Given the description of an element on the screen output the (x, y) to click on. 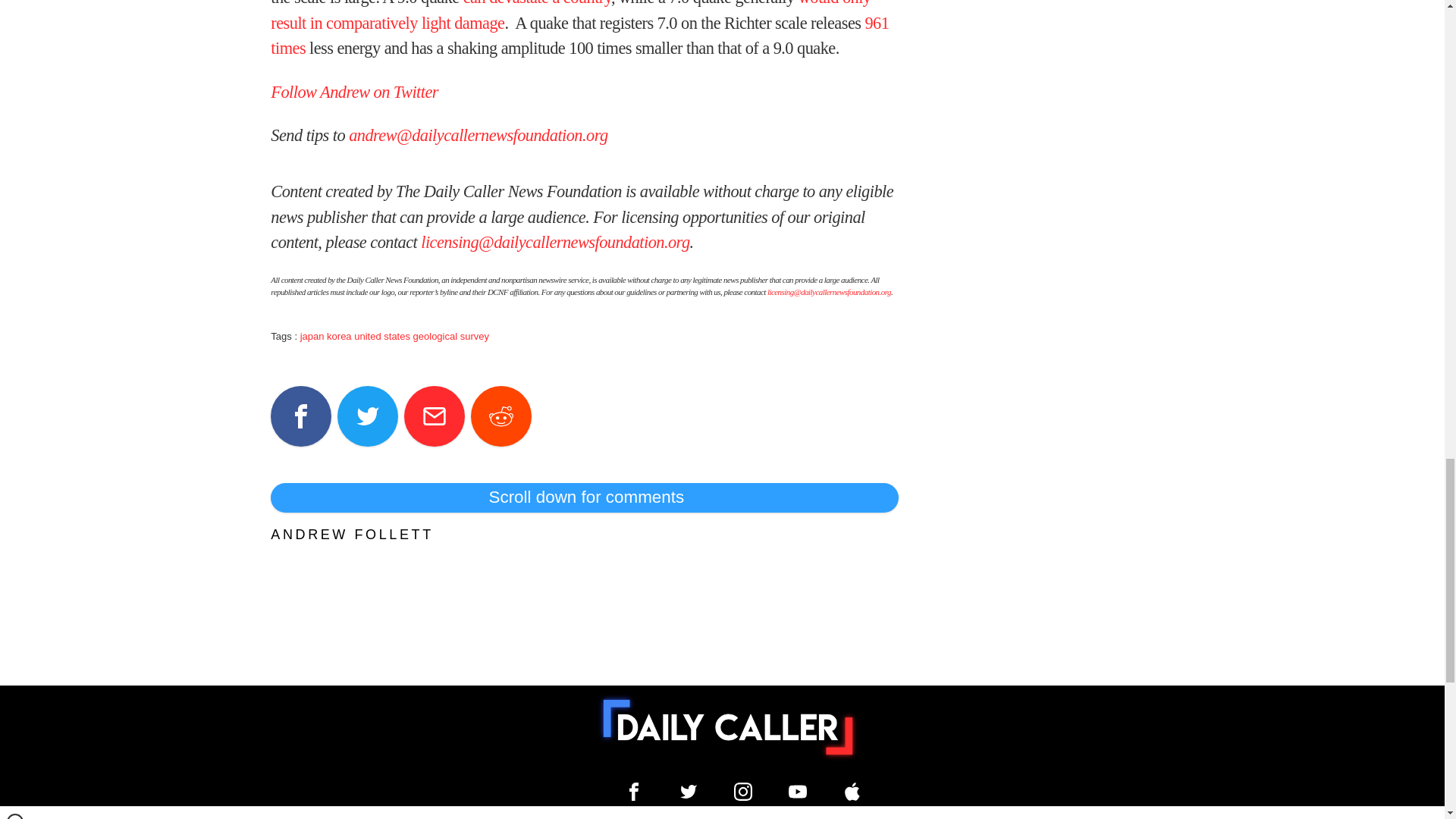
Daily Caller YouTube (797, 791)
Scroll down for comments (584, 497)
Daily Caller YouTube (852, 791)
Daily Caller Facebook (633, 791)
Daily Caller Instagram (742, 791)
To home page (727, 726)
Daily Caller Twitter (688, 791)
